Given the description of an element on the screen output the (x, y) to click on. 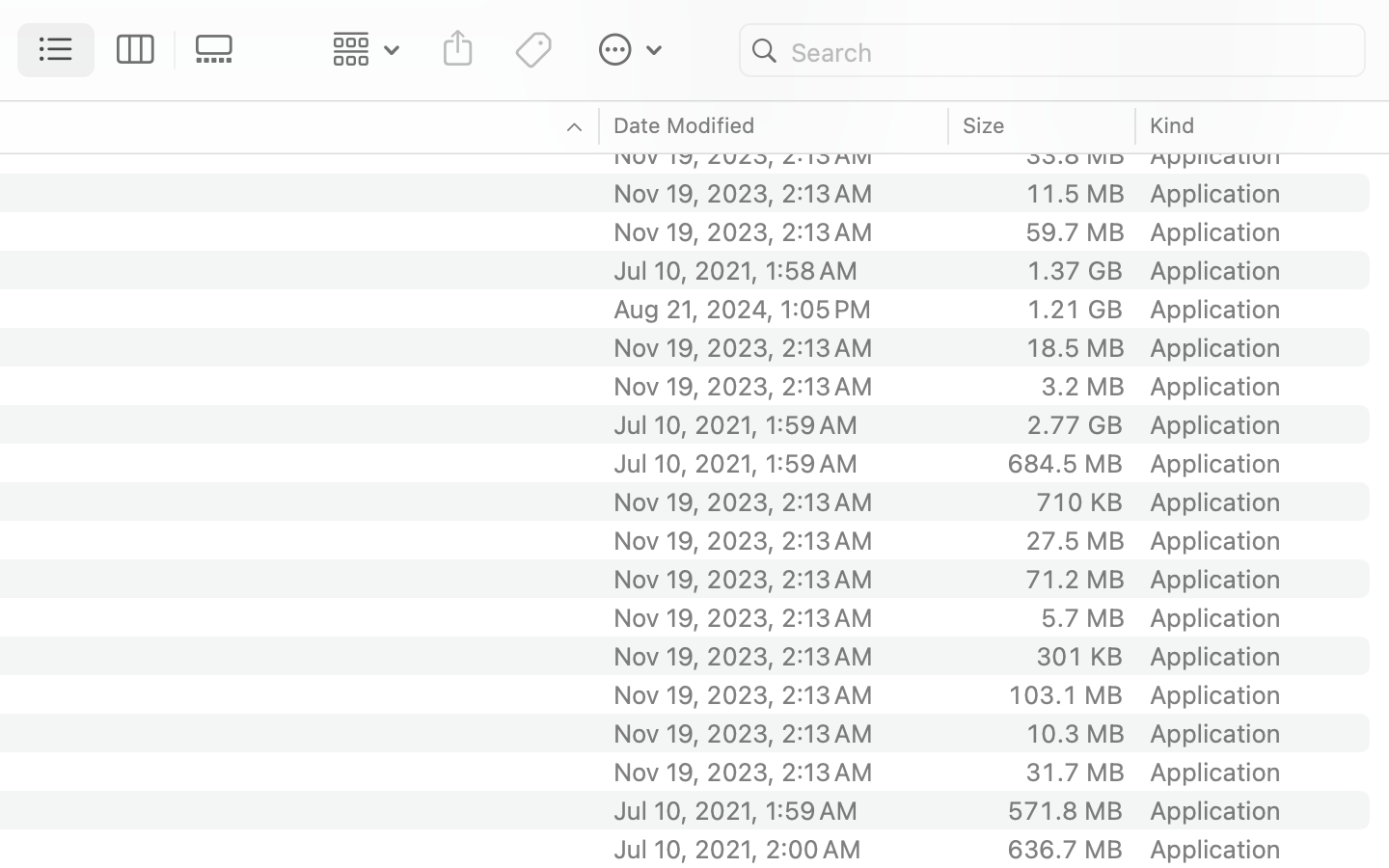
571.8 MB Element type: AXStaticText (1064, 809)
16.8 MB Element type: AXStaticText (1074, 115)
Aug 21, 2024, 1:05 PM Element type: AXStaticText (774, 308)
301 KB Element type: AXStaticText (1079, 655)
31.7 MB Element type: AXStaticText (1074, 771)
